Given the description of an element on the screen output the (x, y) to click on. 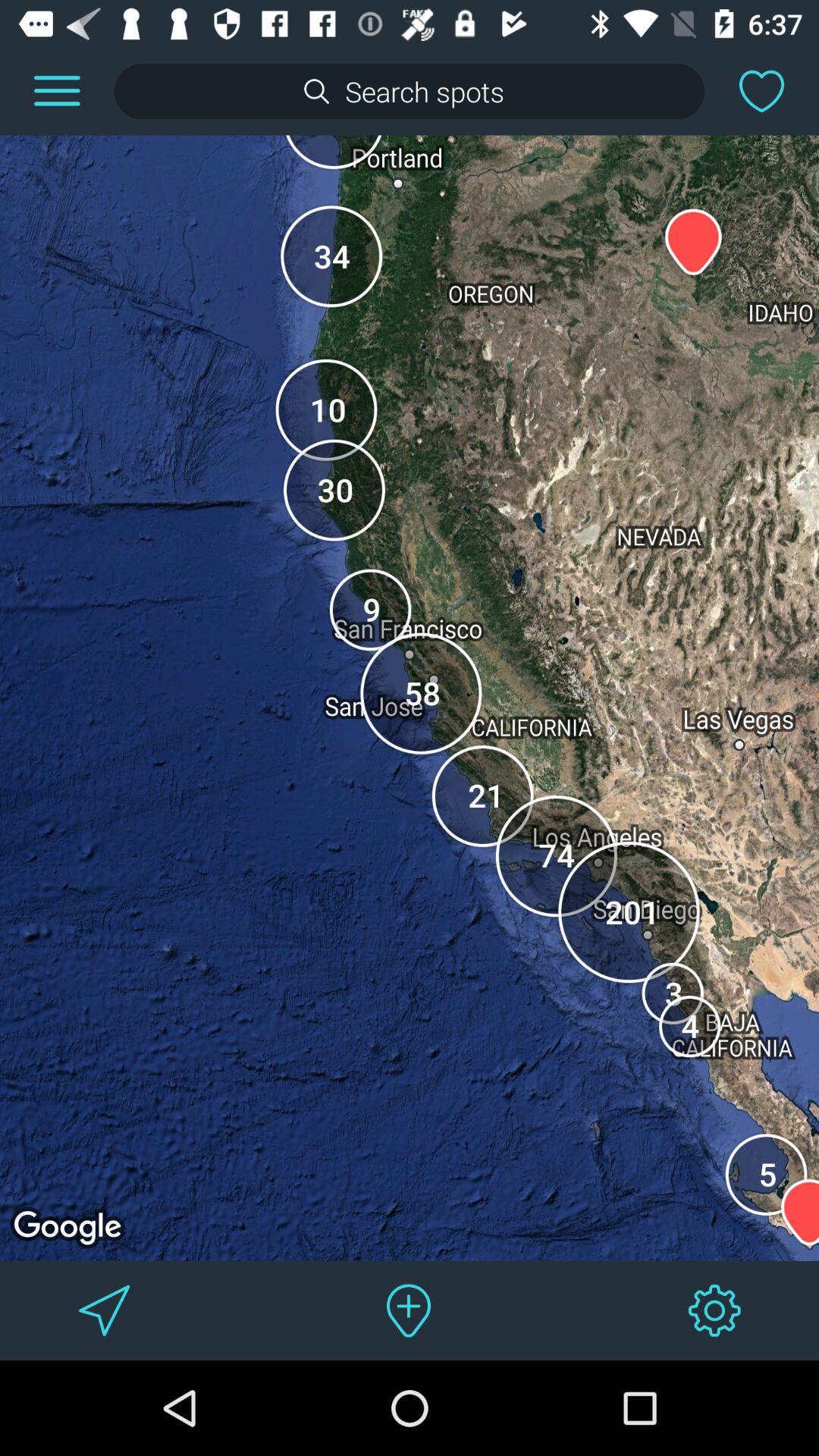
change settings (714, 1310)
